Given the description of an element on the screen output the (x, y) to click on. 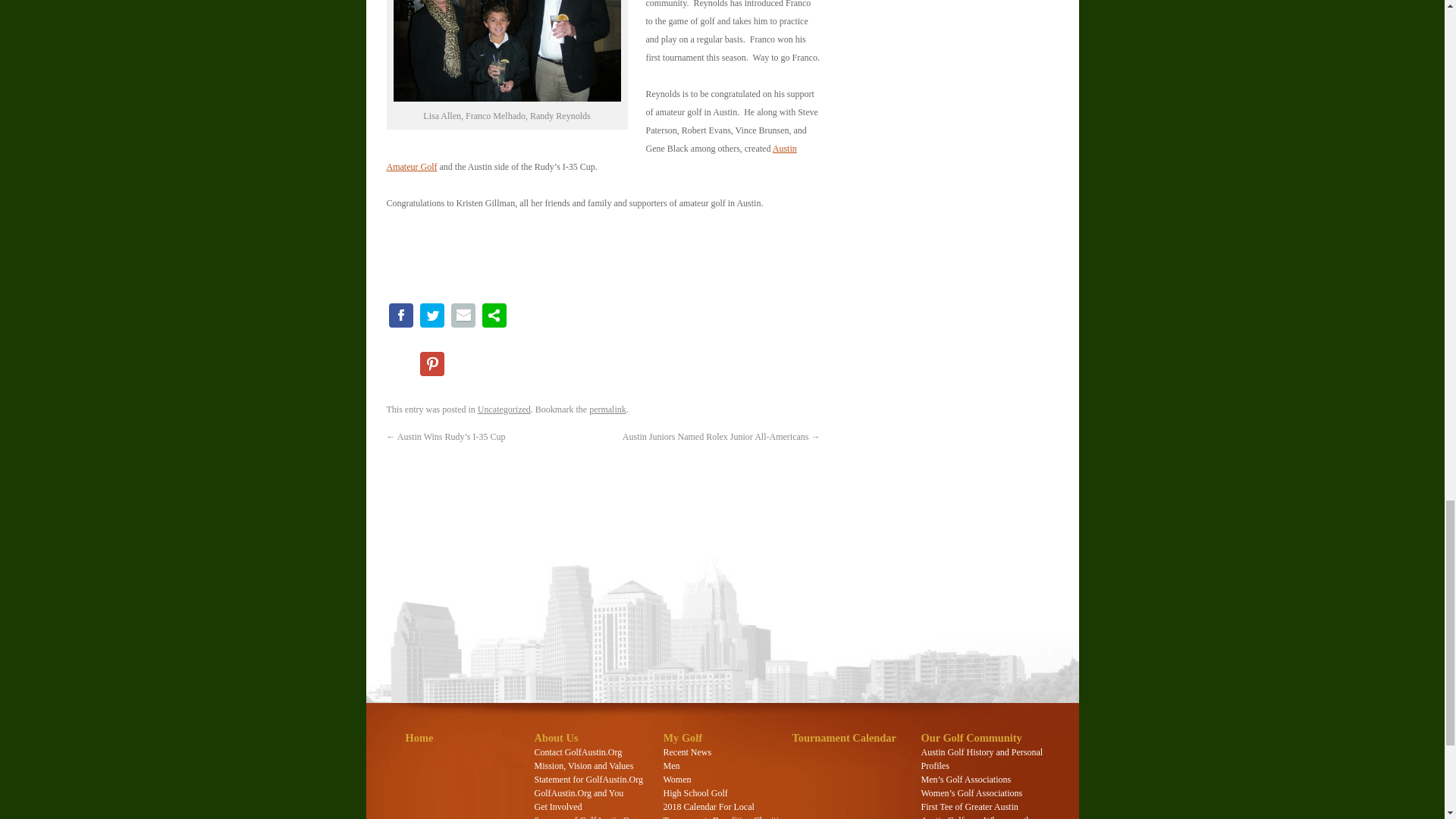
Permalink to Kristen Gillman Honored At Spanish Oaks (607, 409)
